Given the description of an element on the screen output the (x, y) to click on. 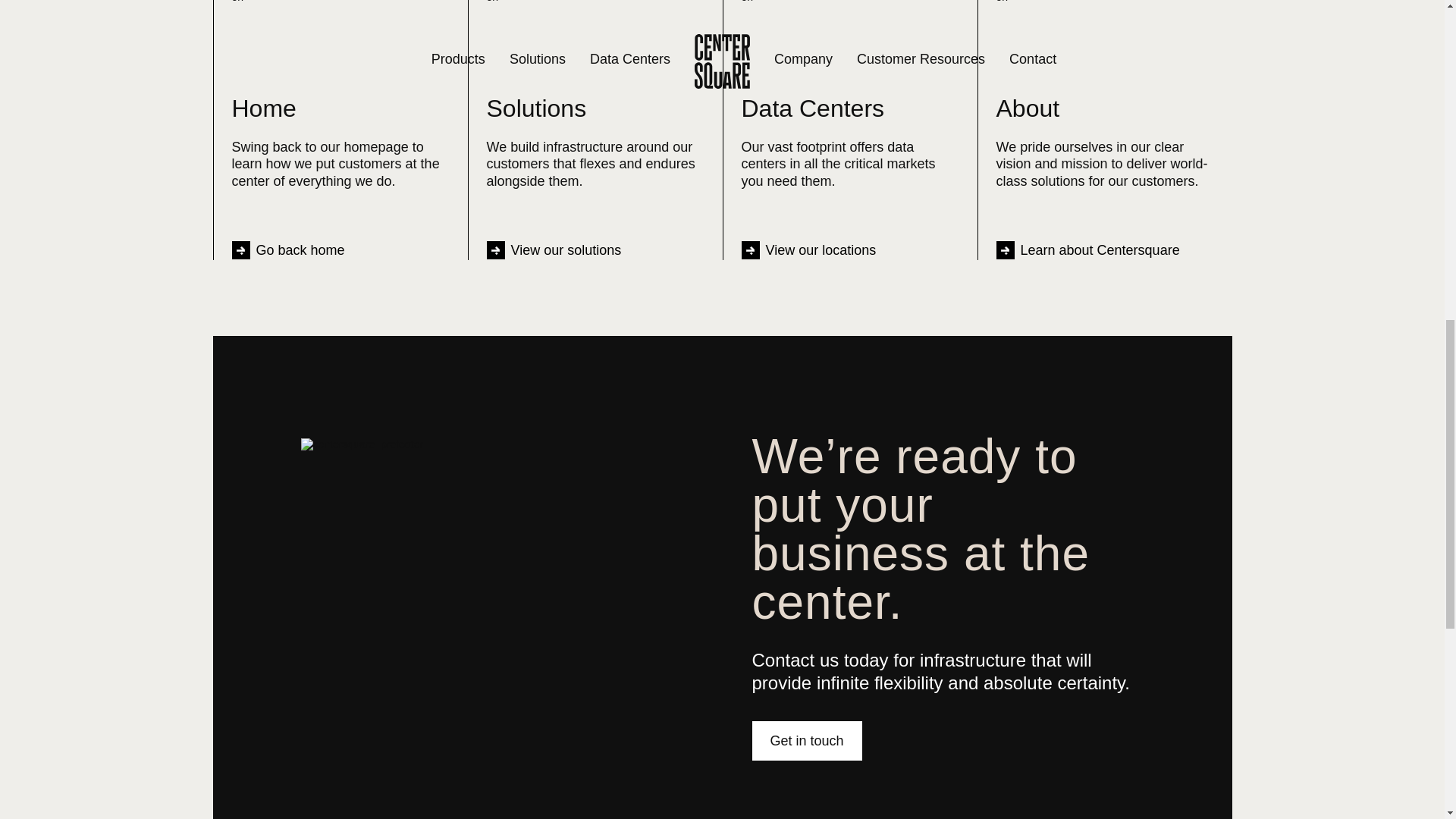
Go back home (288, 249)
Get in touch (806, 740)
View our solutions (553, 249)
Learn about Centersquare (1087, 249)
View our locations (808, 249)
